Given the description of an element on the screen output the (x, y) to click on. 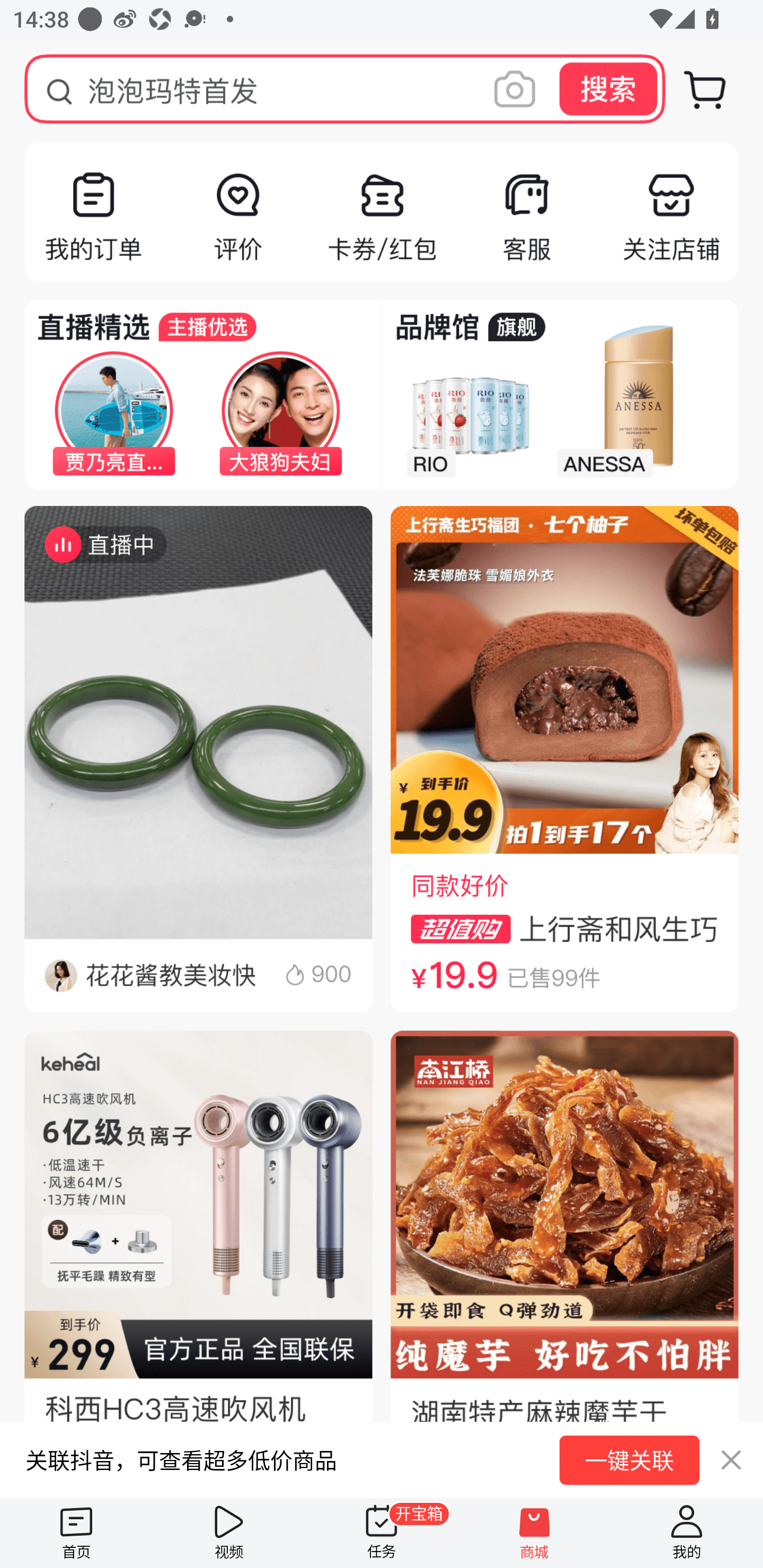
一键关联 (629, 1460)
首页 (76, 1532)
视频 (228, 1532)
任务 开宝箱 (381, 1532)
商城 (533, 1532)
我的 (686, 1532)
